Given the description of an element on the screen output the (x, y) to click on. 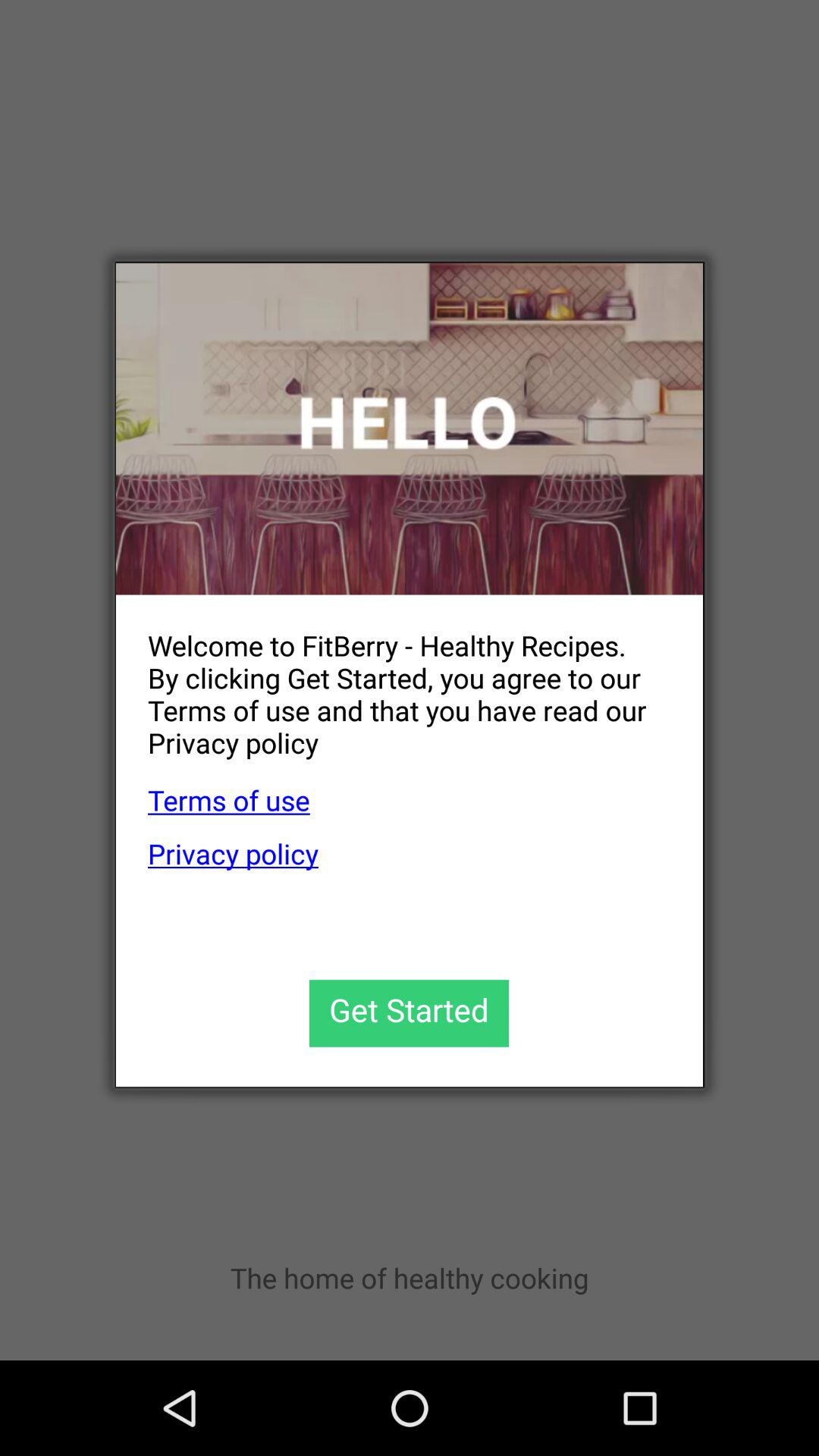
open app homepage (409, 428)
